Given the description of an element on the screen output the (x, y) to click on. 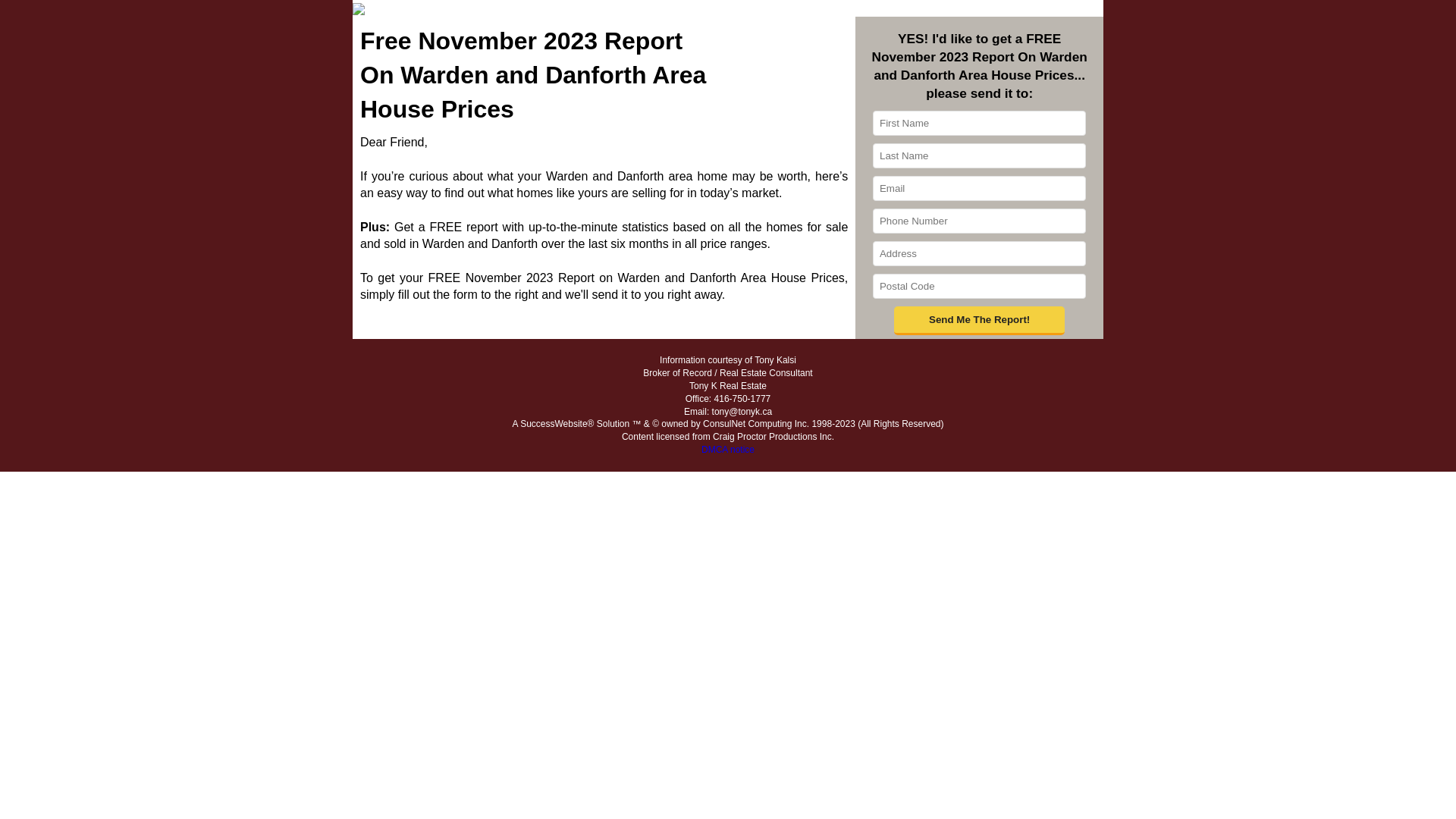
DMCA notice Element type: text (727, 449)
Send Me The Report! Element type: text (979, 320)
